Given the description of an element on the screen output the (x, y) to click on. 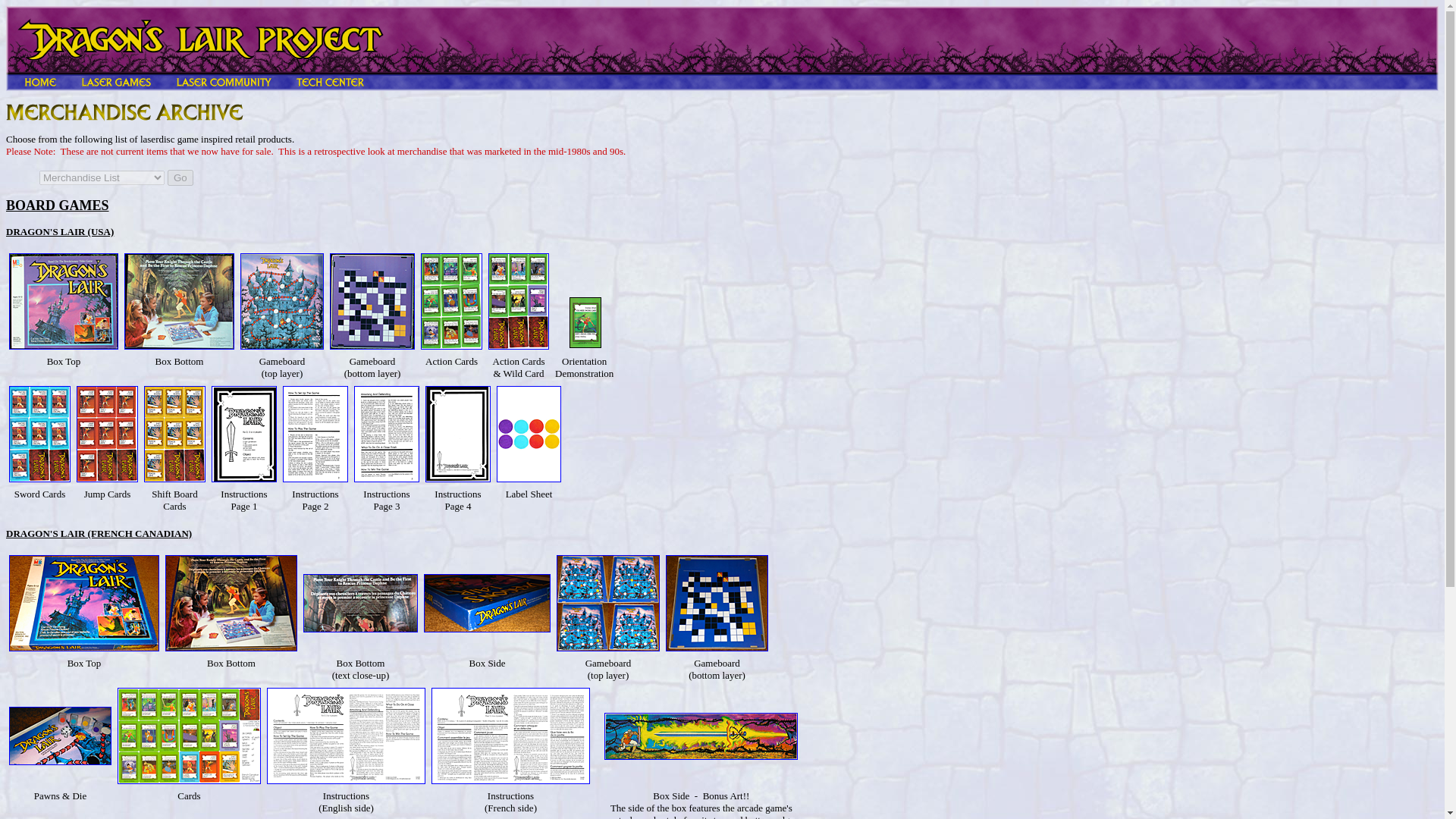
Go (180, 177)
